Given the description of an element on the screen output the (x, y) to click on. 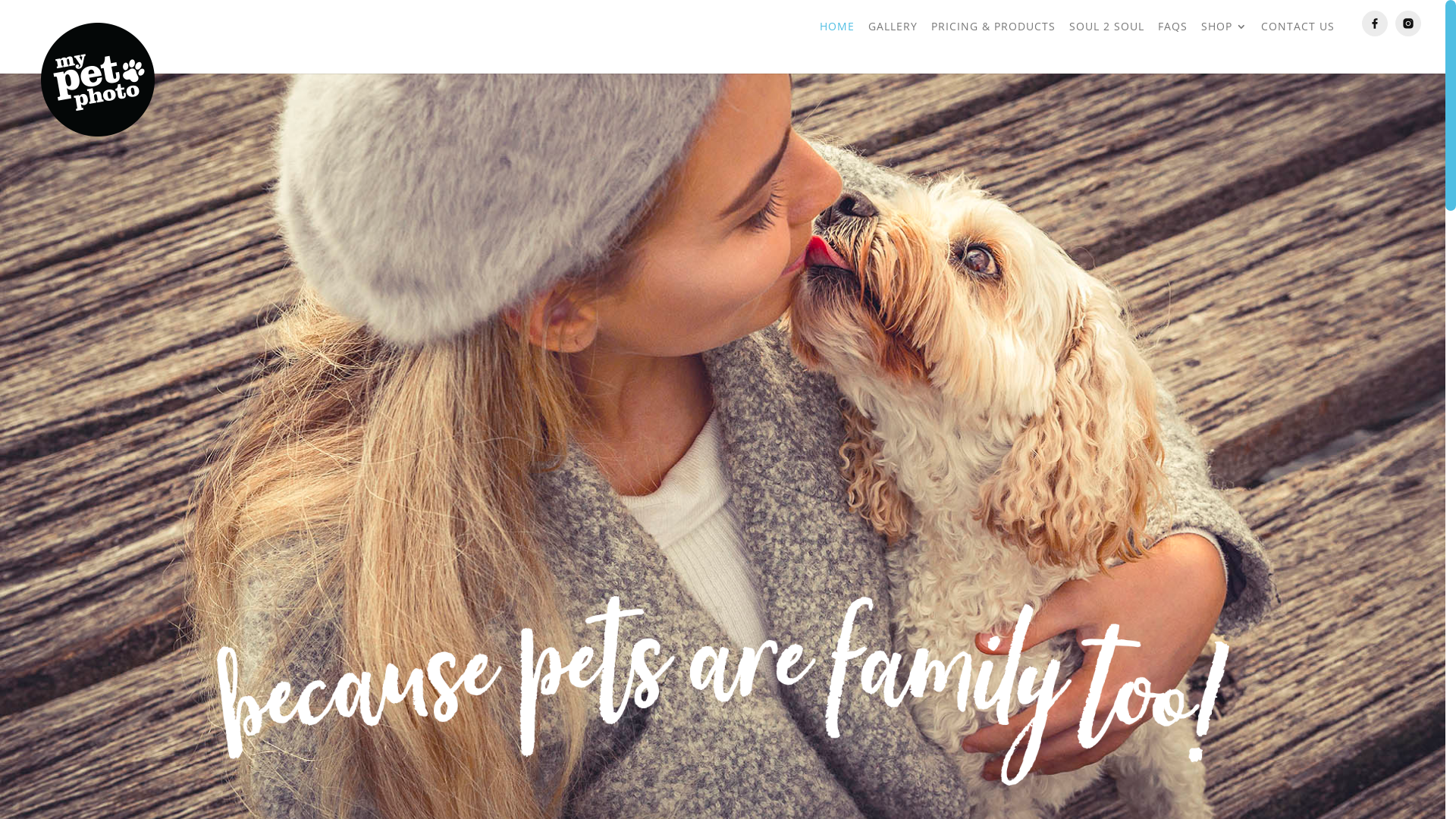
HOME Element type: text (836, 47)
GALLERY Element type: text (892, 47)
SOUL 2 SOUL Element type: text (1106, 47)
CONTACT US Element type: text (1297, 47)
SHOP Element type: text (1224, 47)
PRICING & PRODUCTS Element type: text (993, 47)
FAQS Element type: text (1172, 47)
